Given the description of an element on the screen output the (x, y) to click on. 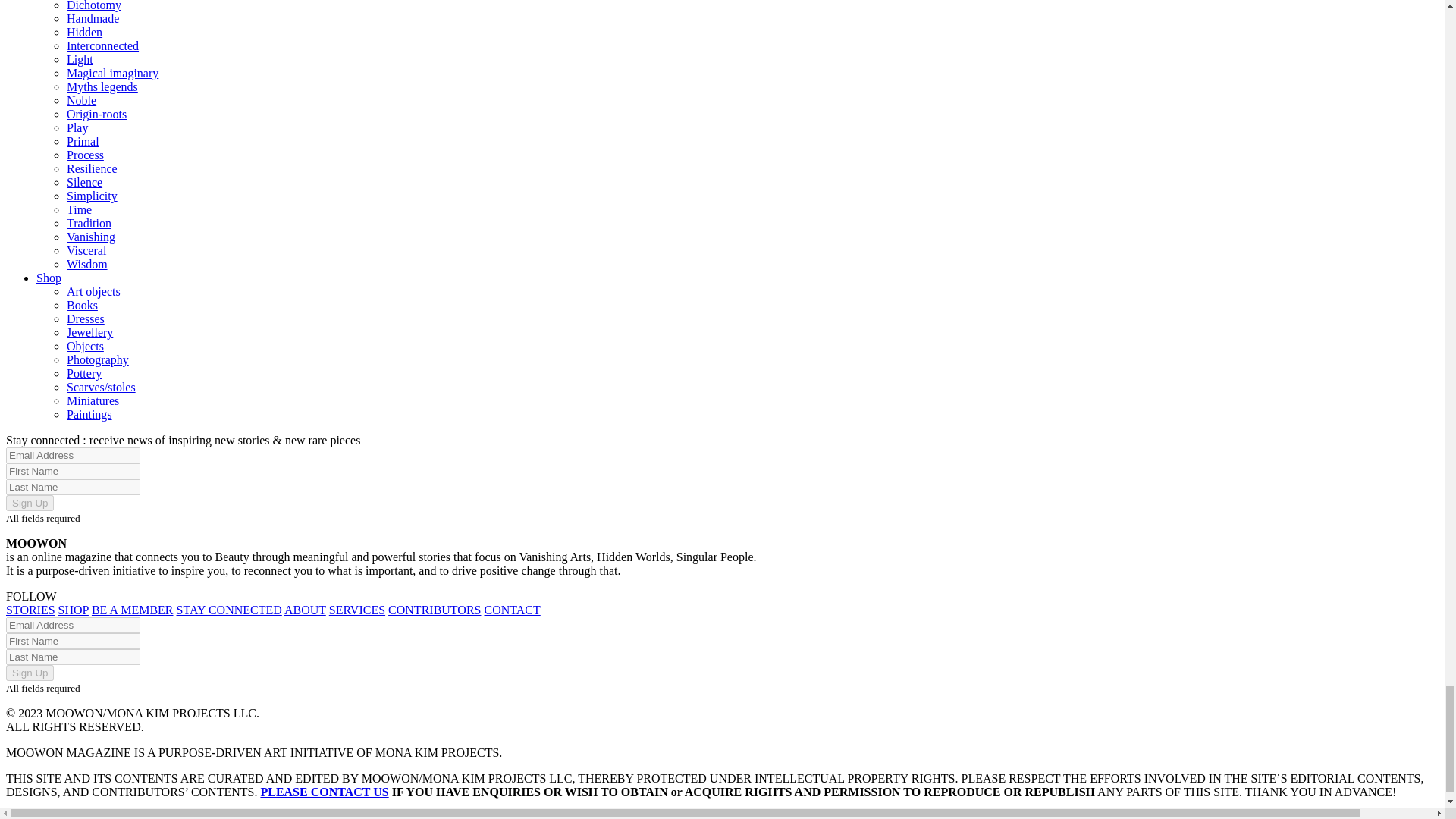
Sign Up (29, 503)
Sign Up (29, 672)
